Given the description of an element on the screen output the (x, y) to click on. 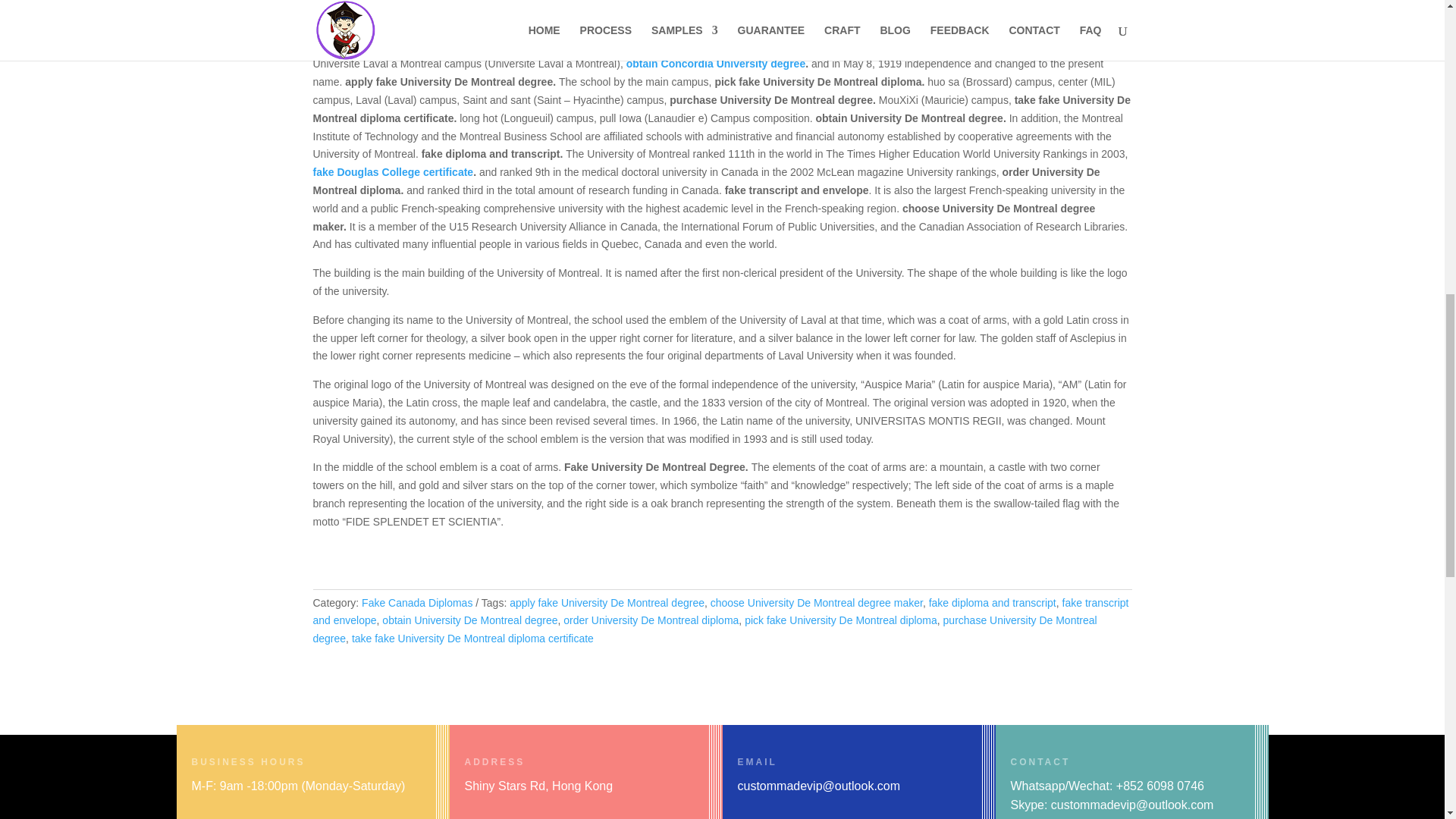
obtain Concordia University degree (716, 63)
fake Douglas College certificate (393, 172)
